Given the description of an element on the screen output the (x, y) to click on. 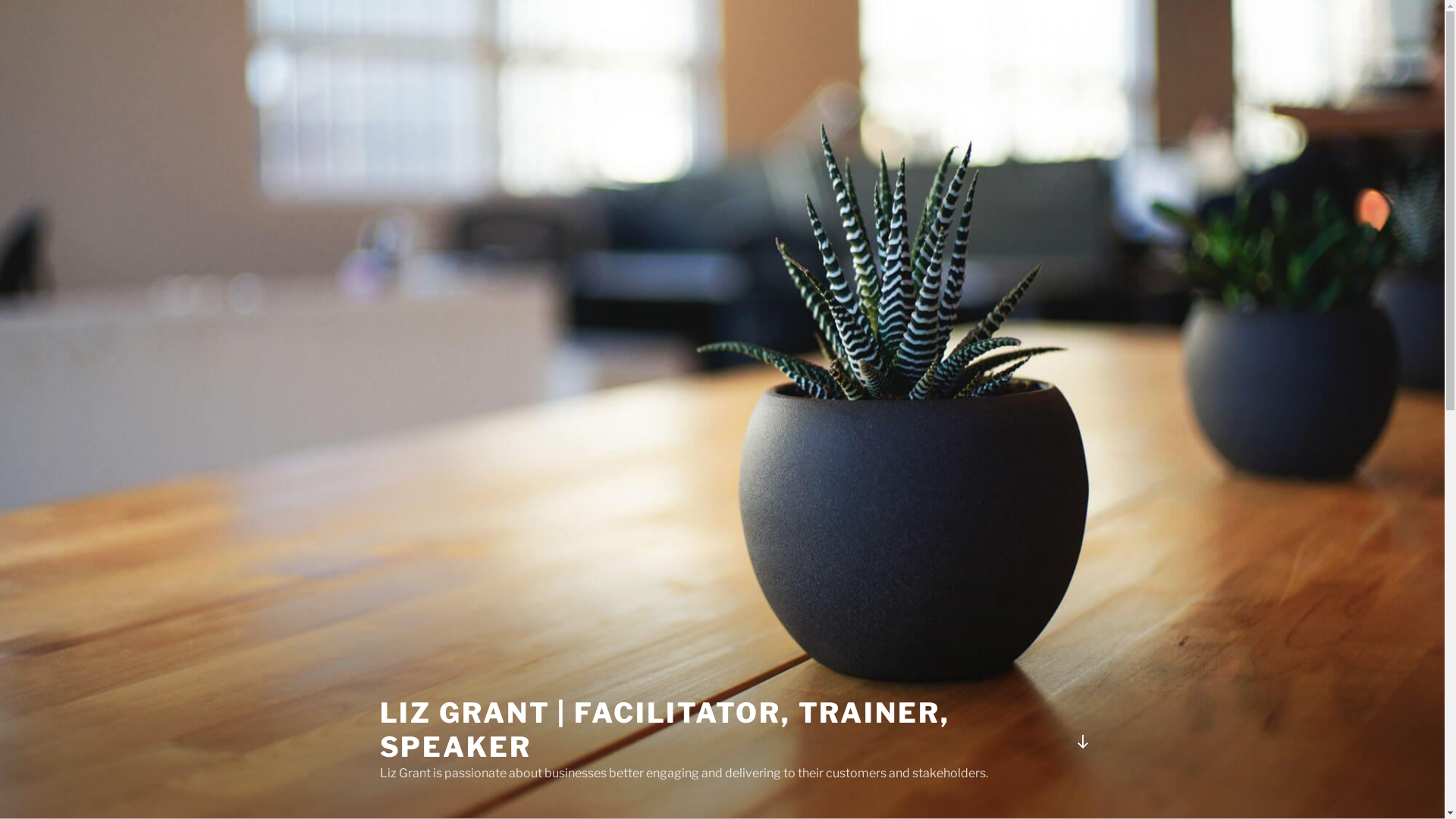
LIZ GRANT | FACILITATOR, TRAINER, SPEAKER Element type: text (664, 729)
Scroll down to content Element type: text (1082, 741)
